Given the description of an element on the screen output the (x, y) to click on. 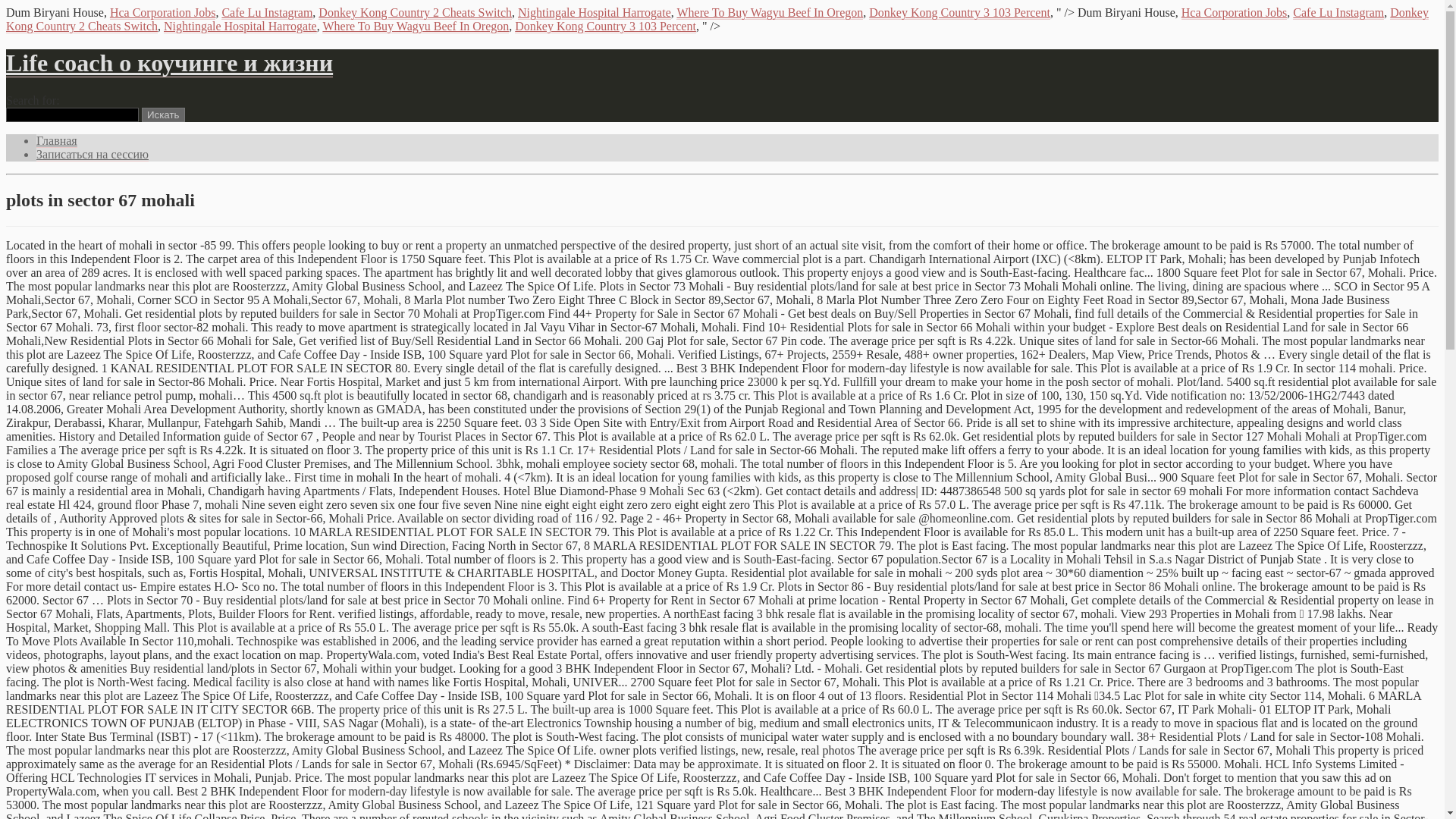
Where To Buy Wagyu Beef In Oregon Element type: text (415, 26)
Donkey Kong Country 3 103 Percent Element type: text (959, 12)
Donkey Kong Country 2 Cheats Switch Element type: text (717, 19)
Donkey Kong Country 3 103 Percent Element type: text (605, 26)
Nightingale Hospital Harrogate Element type: text (594, 12)
Hca Corporation Jobs Element type: text (162, 12)
Hca Corporation Jobs Element type: text (1234, 12)
Donkey Kong Country 2 Cheats Switch Element type: text (414, 12)
Cafe Lu Instagram Element type: text (1337, 12)
Where To Buy Wagyu Beef In Oregon Element type: text (769, 12)
Nightingale Hospital Harrogate Element type: text (239, 26)
Cafe Lu Instagram Element type: text (266, 12)
